Given the description of an element on the screen output the (x, y) to click on. 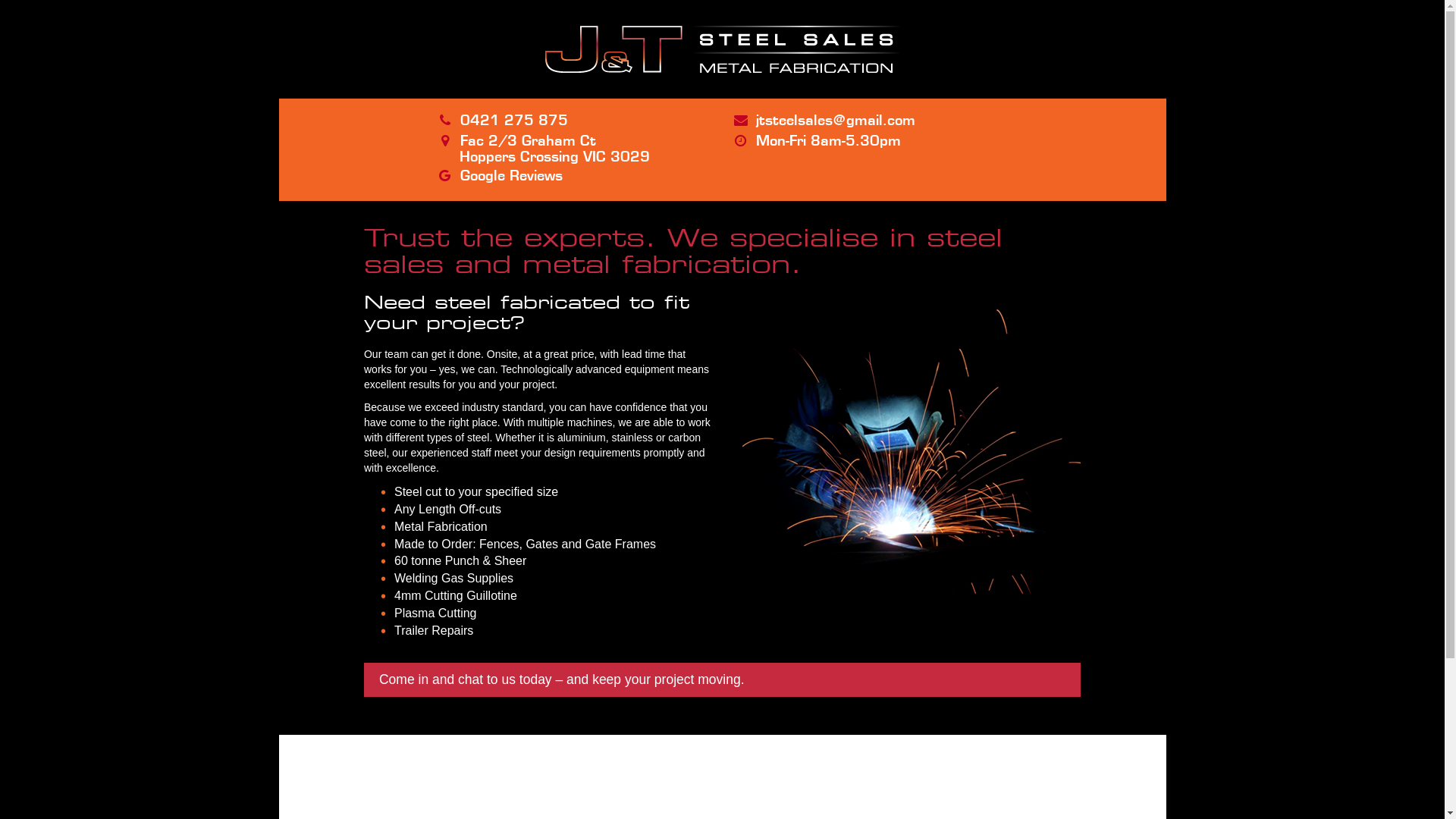
jtsteelsales@gmail.com Element type: text (835, 119)
Fac 2/3 Graham Ct
Hoppers Crossing VIC 3029 Element type: text (543, 147)
0421 275 875 Element type: text (513, 119)
Google Reviews Element type: text (511, 174)
